Given the description of an element on the screen output the (x, y) to click on. 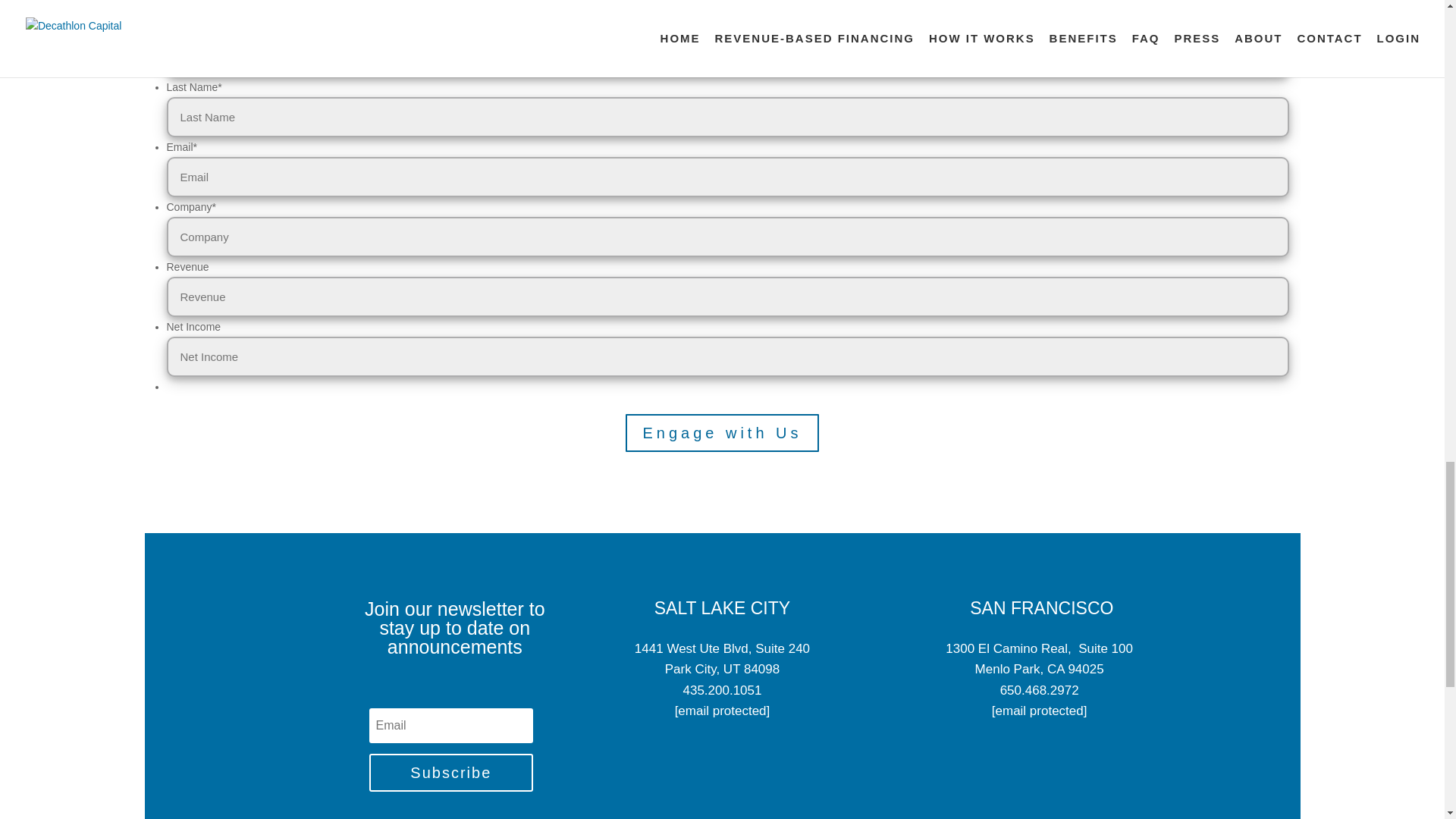
Engage with Us (722, 433)
Subscribe (450, 772)
